Given the description of an element on the screen output the (x, y) to click on. 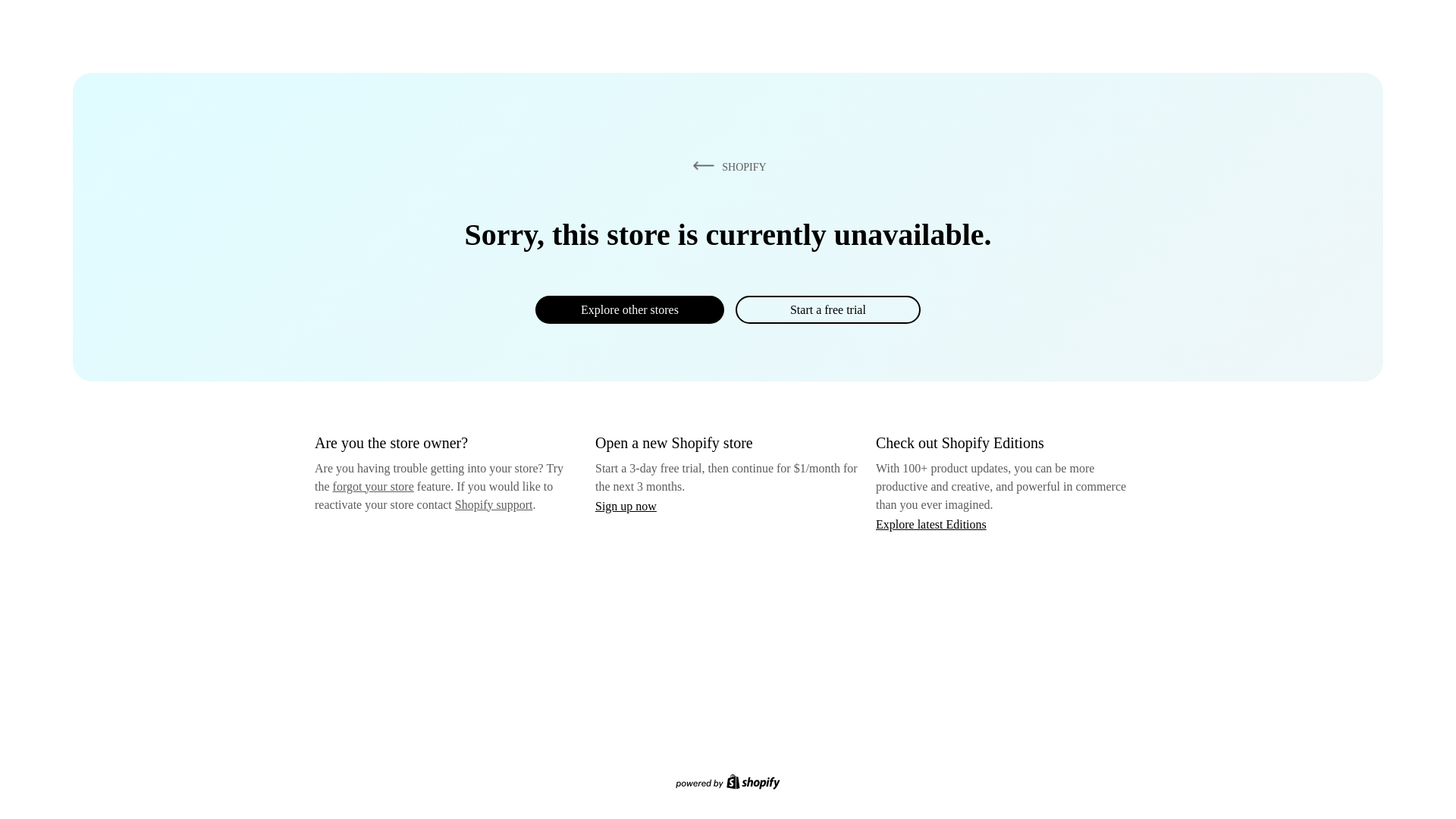
Sign up now (625, 505)
Start a free trial (827, 309)
Explore latest Editions (931, 523)
Shopify support (493, 504)
SHOPIFY (726, 166)
Explore other stores (629, 309)
forgot your store (373, 486)
